Given the description of an element on the screen output the (x, y) to click on. 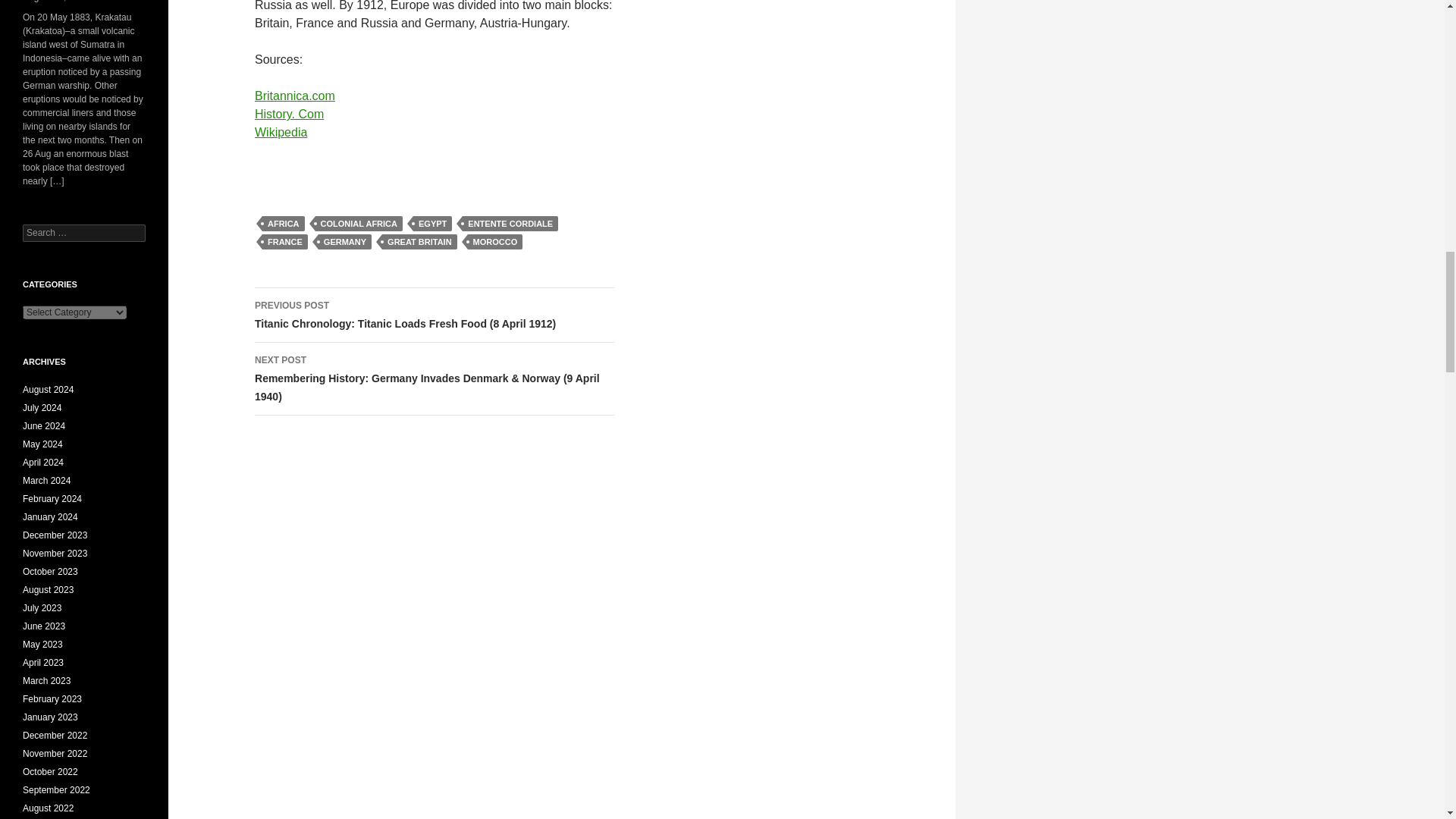
COLONIAL AFRICA (359, 223)
MOROCCO (494, 241)
ENTENTE CORDIALE (510, 223)
EGYPT (432, 223)
Wikipedia (280, 132)
AFRICA (283, 223)
GERMANY (344, 241)
History. Com (288, 113)
GREAT BRITAIN (419, 241)
Britannica.com (294, 95)
